Given the description of an element on the screen output the (x, y) to click on. 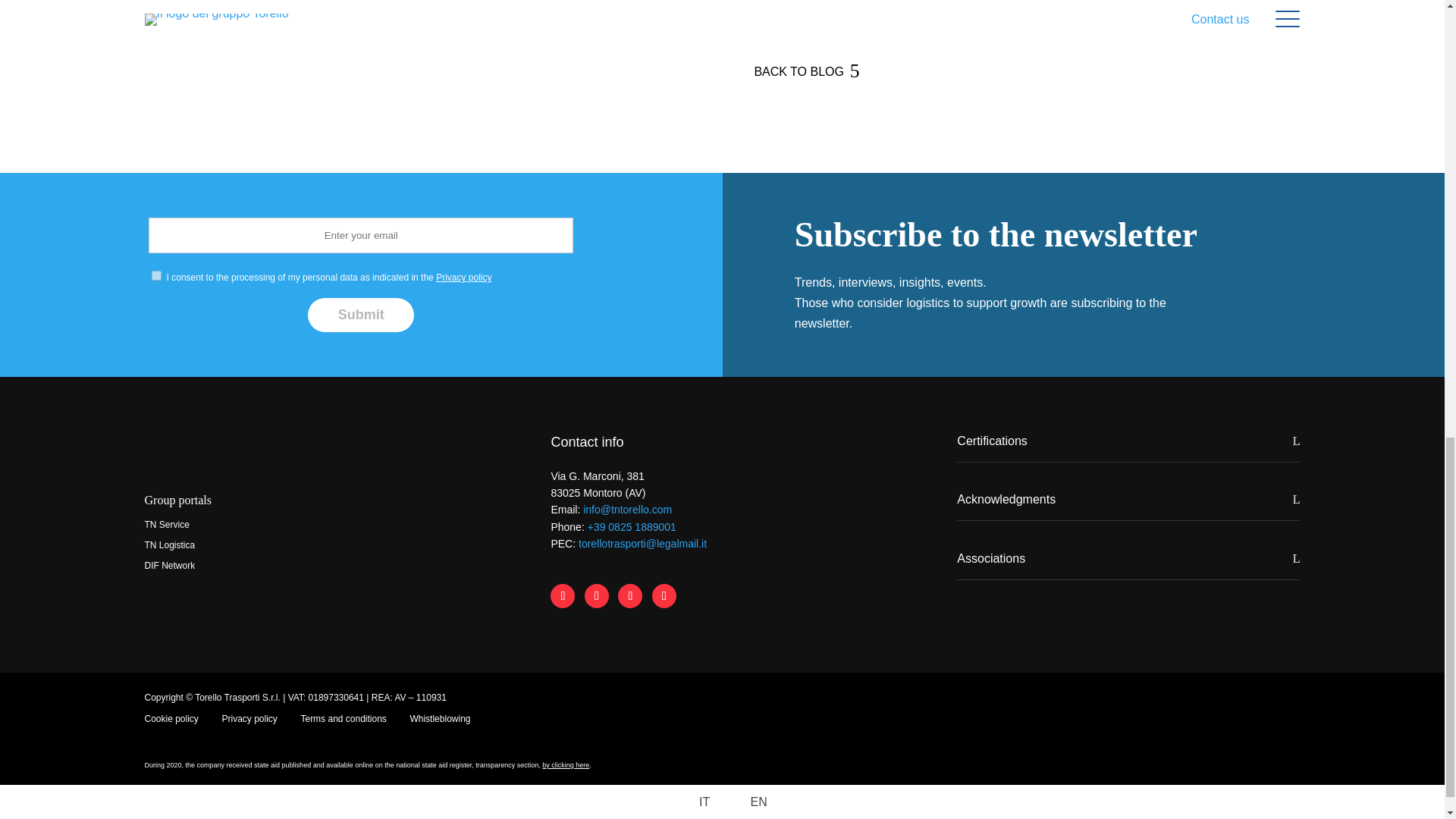
DIF Network (169, 565)
crearts-logo-a-white (1290, 696)
BACK TO BLOG (799, 71)
Privacy policy (463, 276)
TN Service (166, 524)
Submit (360, 315)
Follow on Youtube (664, 595)
Follow on LinkedIn (596, 595)
Submit (360, 315)
TN Logistica (169, 544)
